Given the description of an element on the screen output the (x, y) to click on. 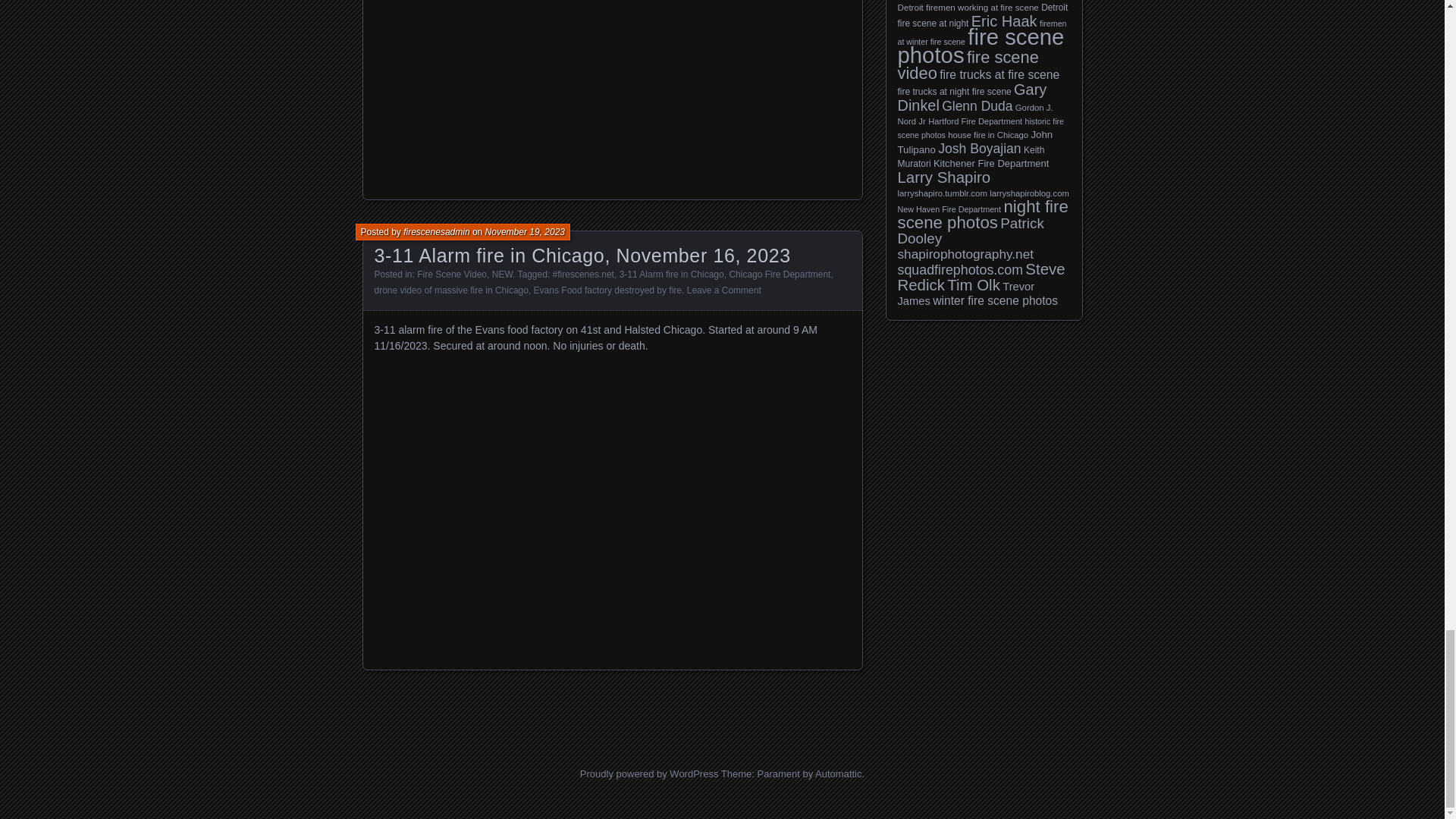
View all posts by firescenesadmin (435, 231)
November 19, 2023 (524, 231)
3-11 Alarm fire in Chicago, November 16, 2023 (582, 255)
firescenesadmin (435, 231)
